Given the description of an element on the screen output the (x, y) to click on. 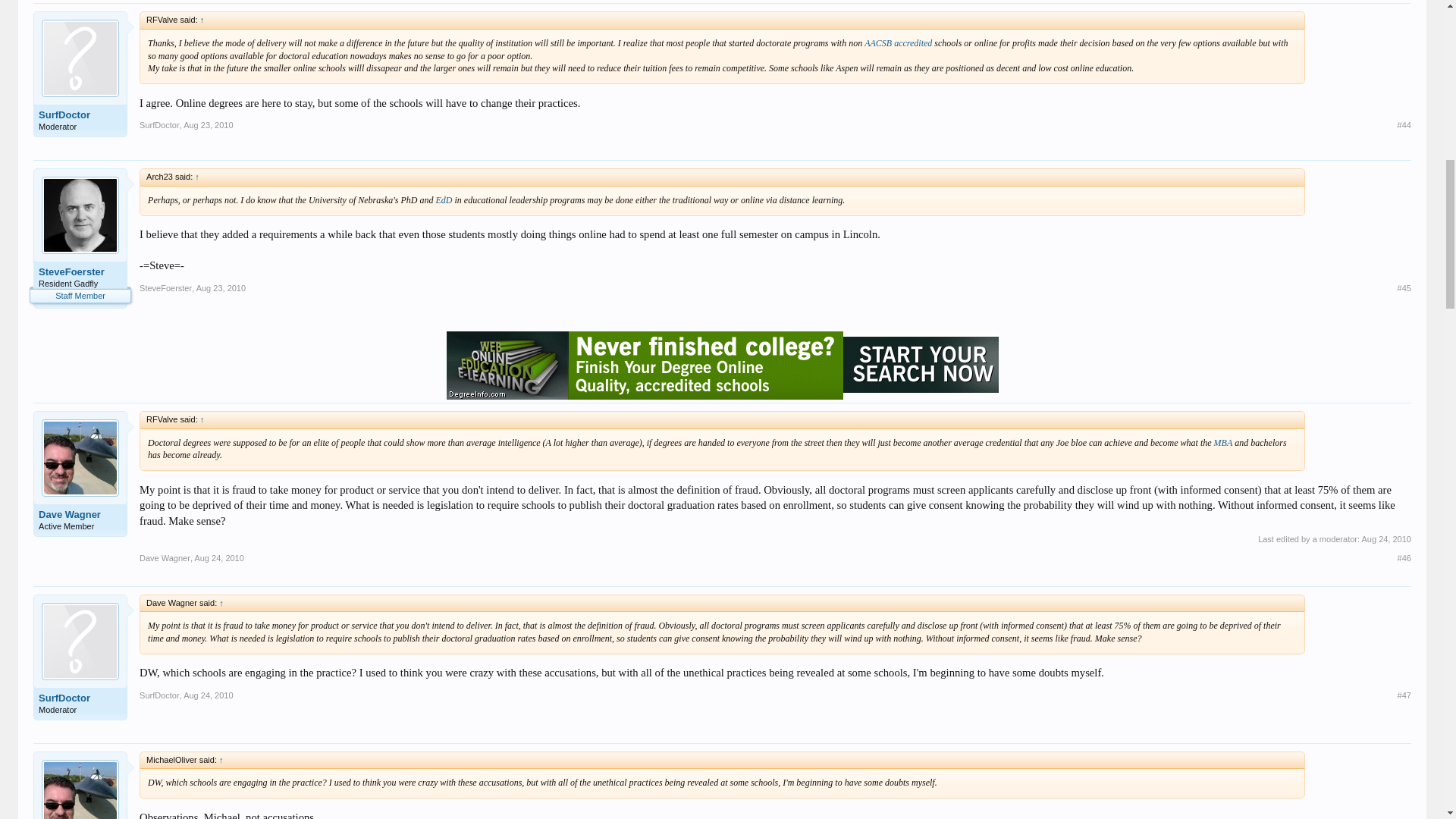
Permalink (1403, 124)
SurfDoctor (80, 114)
AACSB accredited (897, 42)
Permalink (221, 287)
Permalink (207, 124)
